Given the description of an element on the screen output the (x, y) to click on. 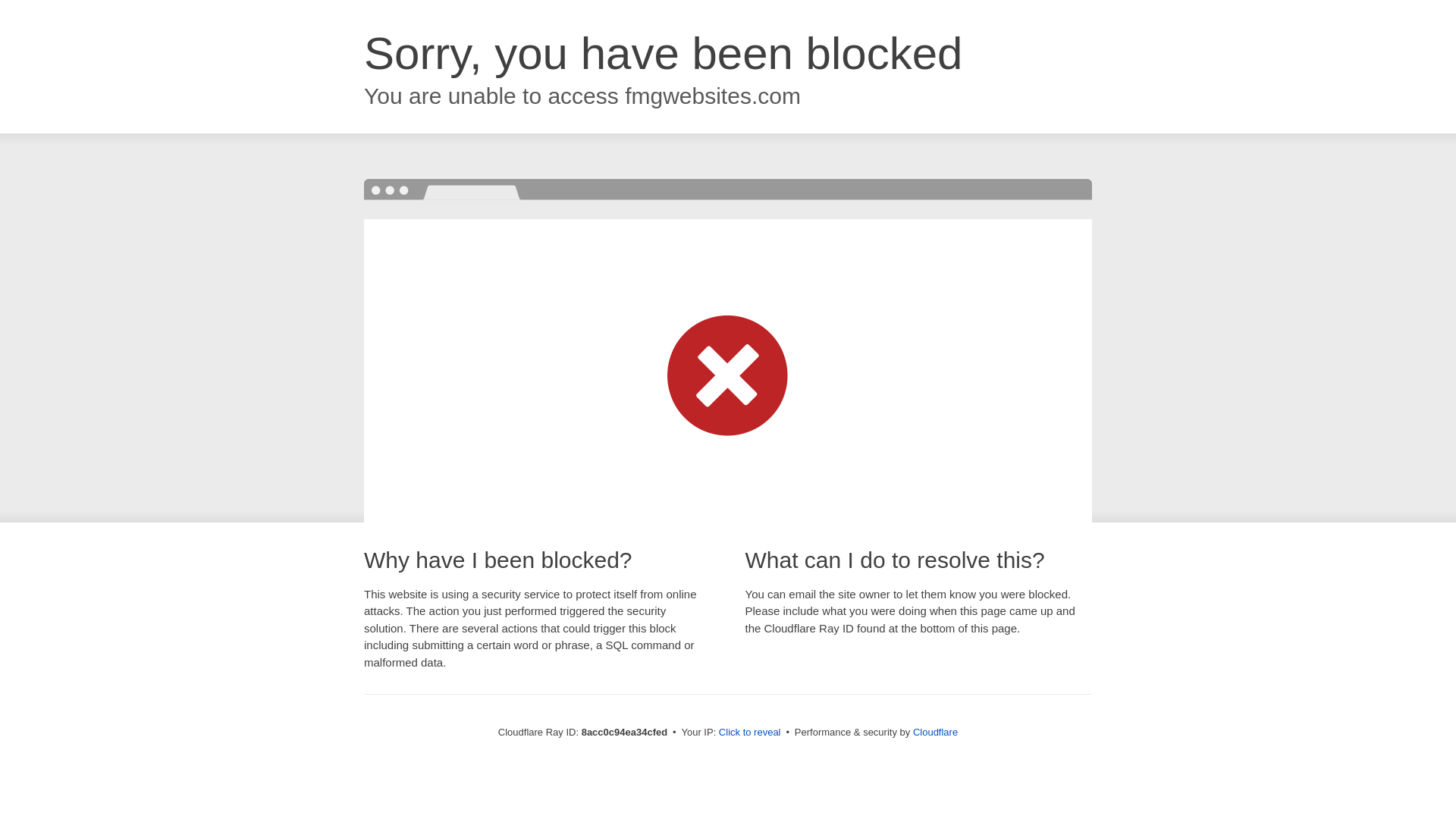
Click to reveal (749, 732)
Cloudflare (935, 731)
